Given the description of an element on the screen output the (x, y) to click on. 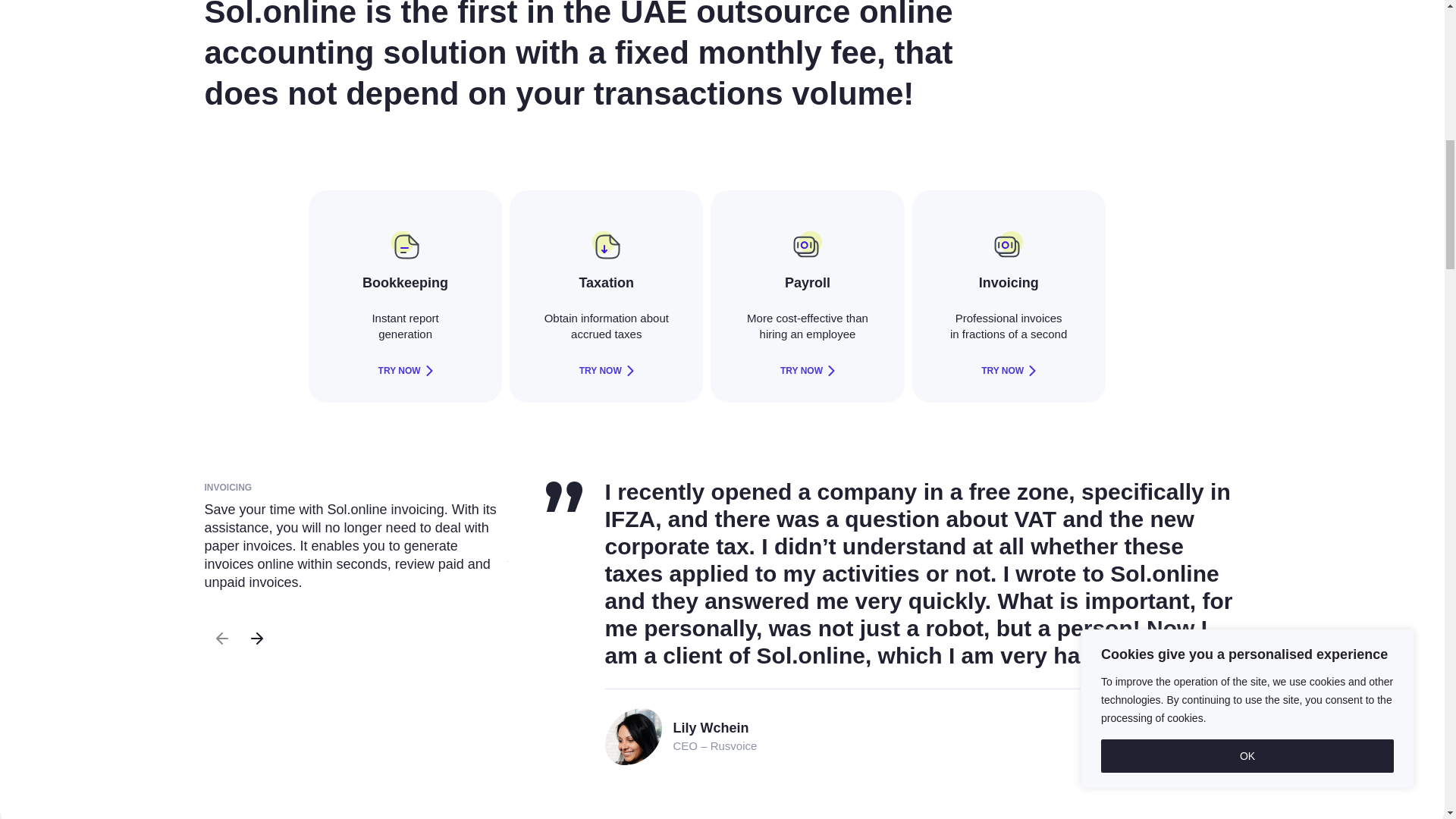
TRY NOW (405, 370)
TRY NOW (606, 370)
TRY NOW (807, 370)
